Given the description of an element on the screen output the (x, y) to click on. 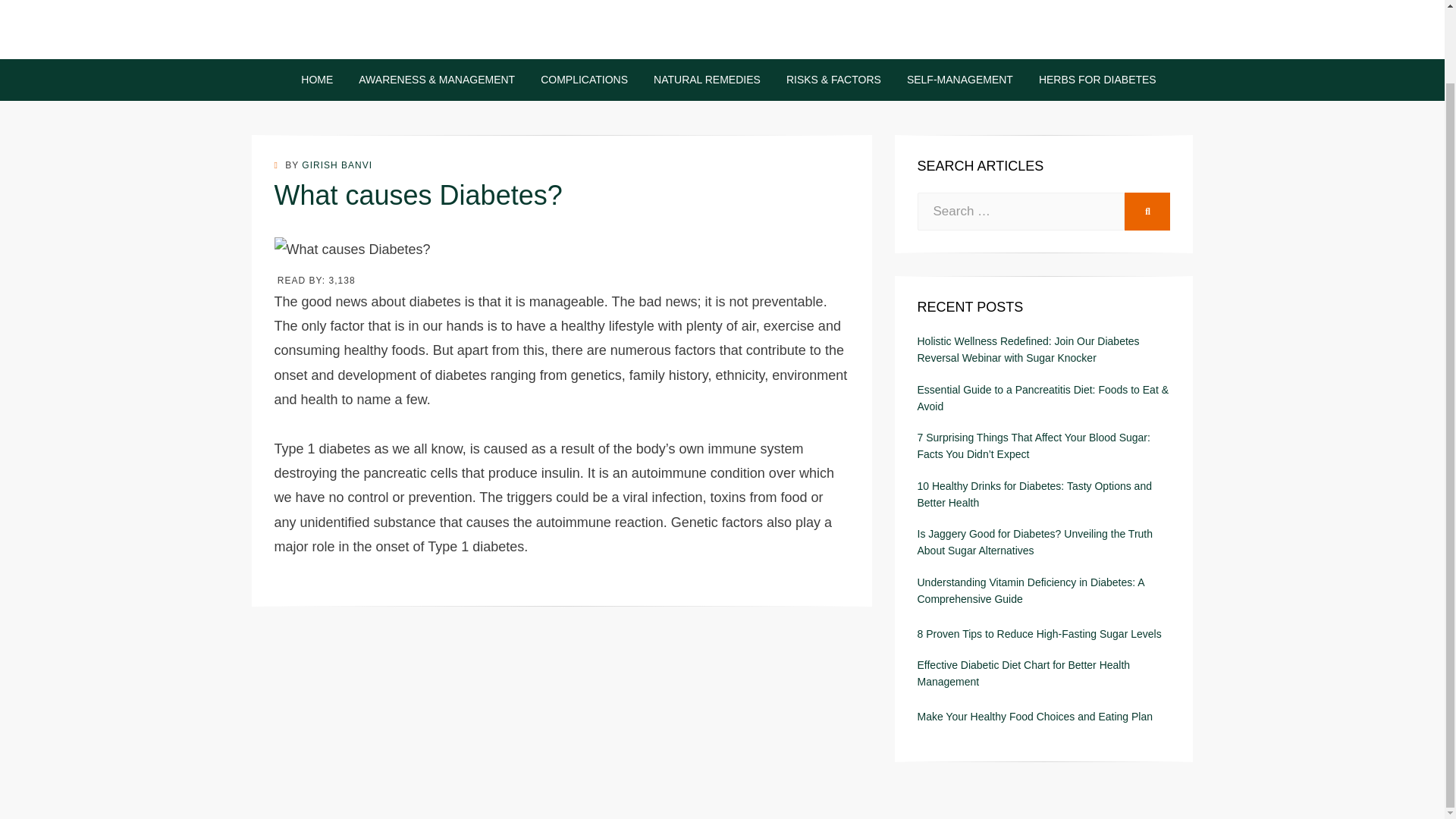
Effective Diabetic Diet Chart for Better Health Management (1043, 673)
SELF-MANAGEMENT (959, 79)
What causes Diabetes? (352, 249)
SEARCH (1147, 211)
HERBS FOR DIABETES (1091, 79)
Search for: (1021, 211)
GIRISH BANVI (336, 164)
Make Your Healthy Food Choices and Eating Plan (1035, 716)
8 Proven Tips to Reduce High-Fasting Sugar Levels  (1040, 633)
HOME (317, 79)
COMPLICATIONS (583, 79)
